Given the description of an element on the screen output the (x, y) to click on. 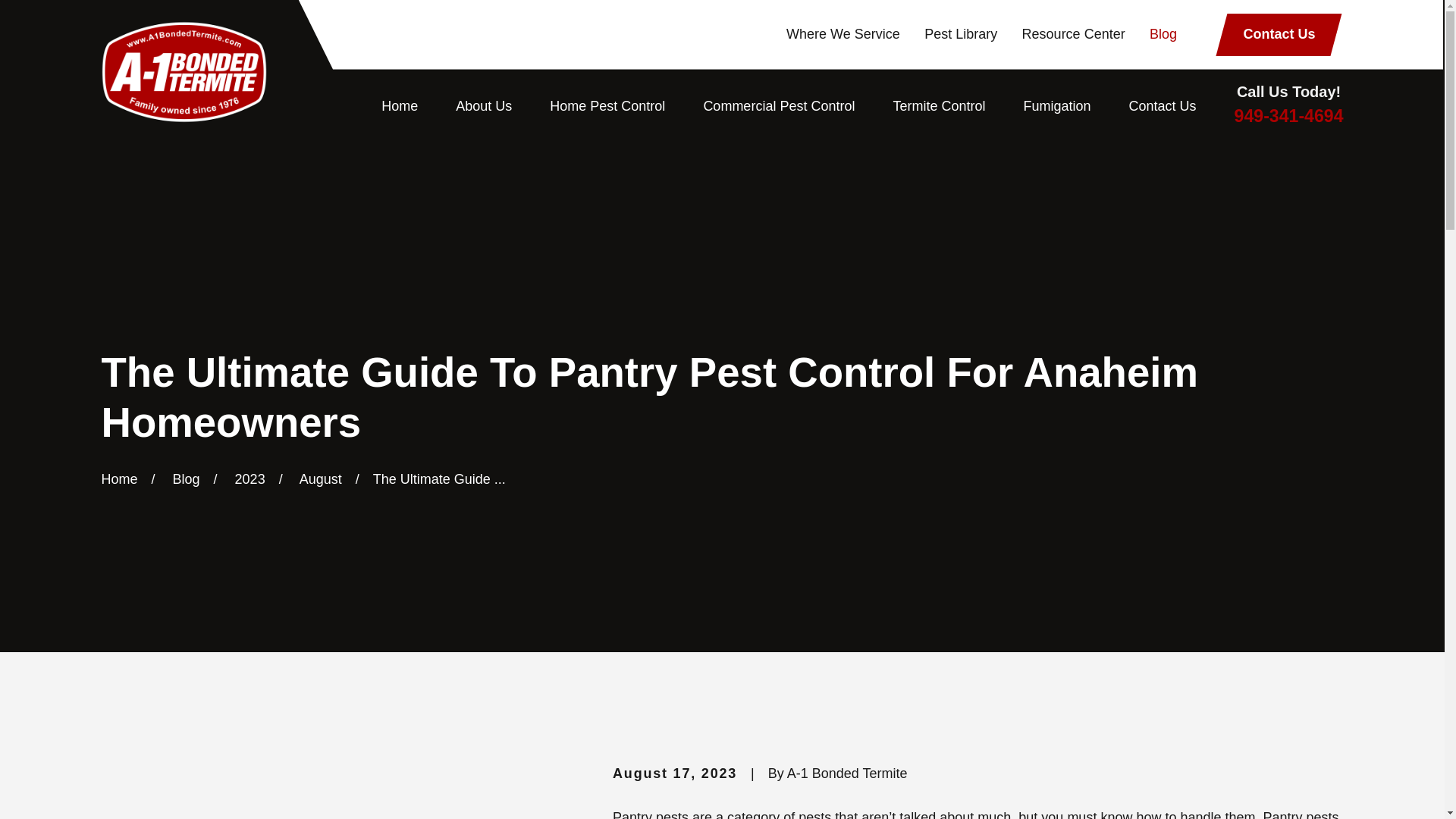
Home Pest Control (607, 106)
Pest Library (960, 33)
Go Home (118, 478)
Resource Center (1073, 33)
Home (183, 71)
Fumigation (1056, 106)
Termite Control (938, 106)
Blog (1163, 33)
Contact Us (1278, 34)
Commercial Pest Control (778, 106)
